Given the description of an element on the screen output the (x, y) to click on. 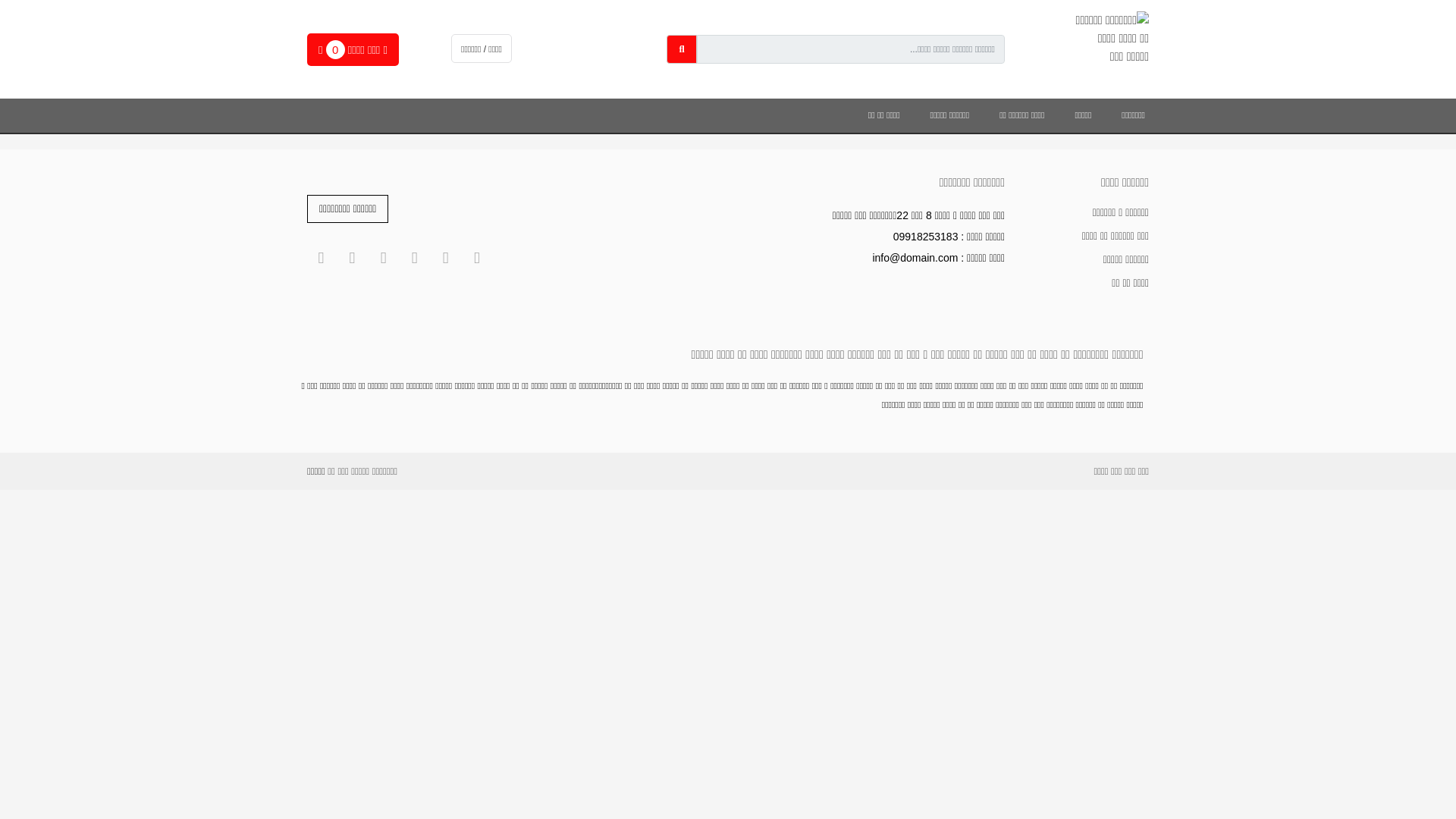
email Element type: hover (320, 258)
rss Element type: hover (352, 258)
telegram Element type: hover (477, 258)
facebook Element type: hover (414, 258)
twitter Element type: hover (383, 258)
instagram Element type: hover (445, 258)
